Given the description of an element on the screen output the (x, y) to click on. 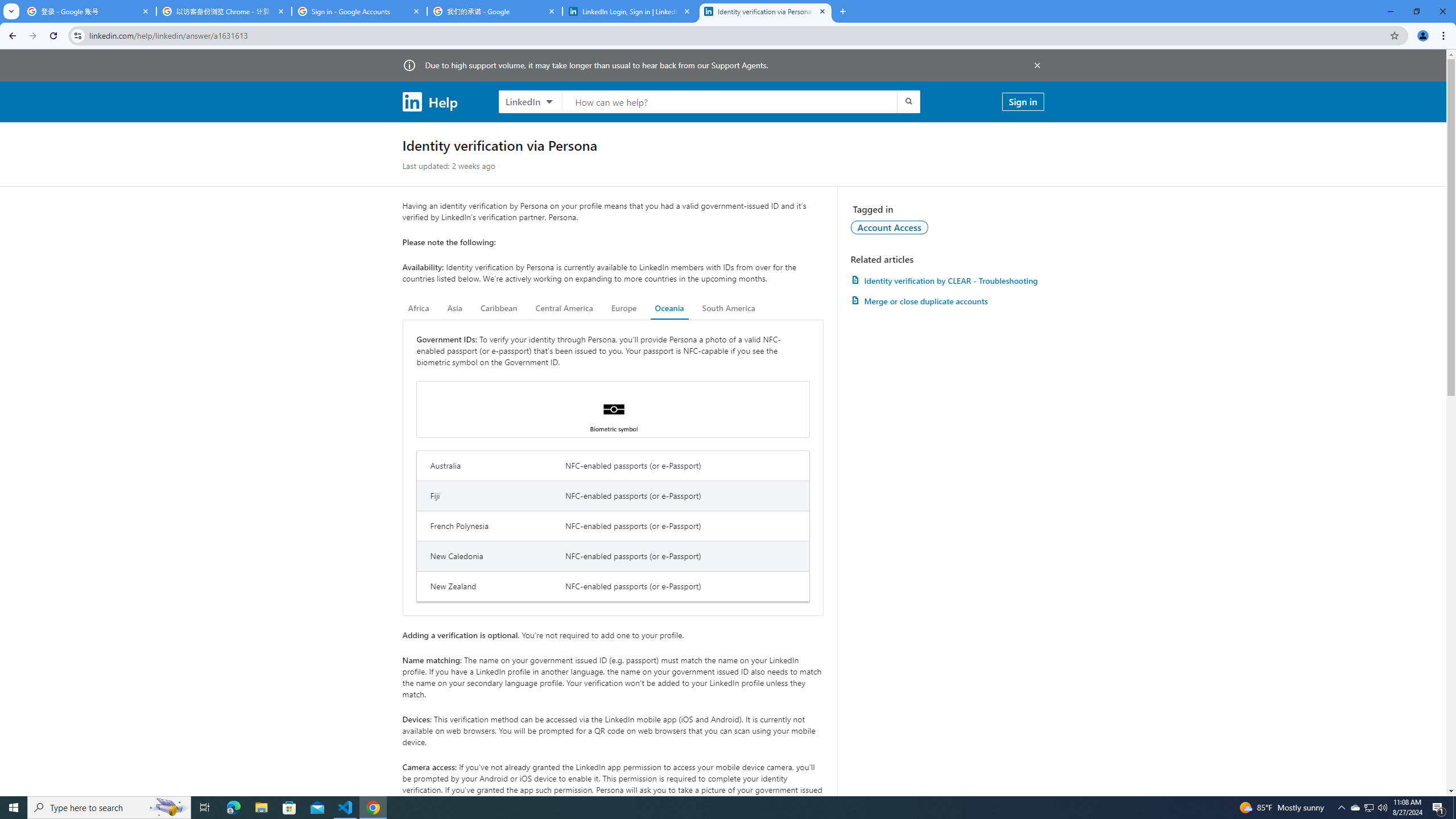
Account Access (889, 227)
Merge or close duplicate accounts (946, 300)
Asia (454, 308)
LinkedIn Login, Sign in | LinkedIn (630, 11)
Biometric symbol (612, 409)
AutomationID: article-link-a1457505 (946, 280)
AutomationID: topic-link-a151002 (889, 227)
here (689, 801)
Europe (623, 308)
Oceania (668, 308)
